Given the description of an element on the screen output the (x, y) to click on. 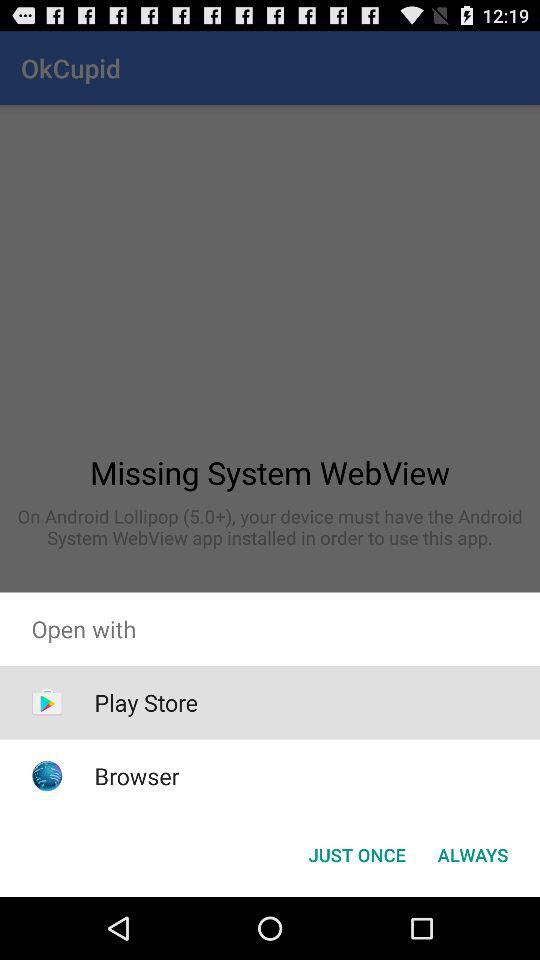
scroll to the play store icon (146, 702)
